Given the description of an element on the screen output the (x, y) to click on. 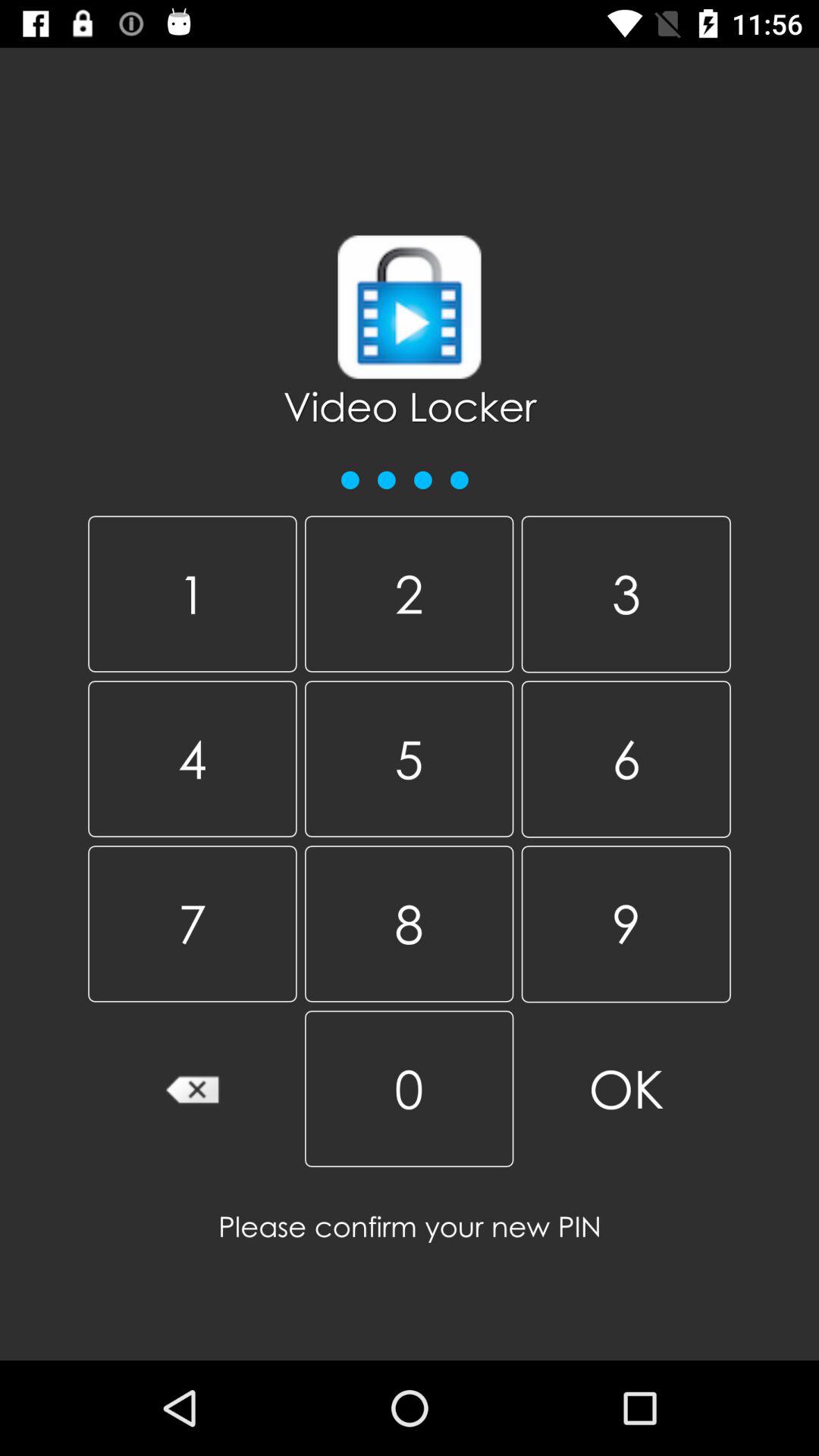
launch item next to the 2 icon (625, 593)
